Given the description of an element on the screen output the (x, y) to click on. 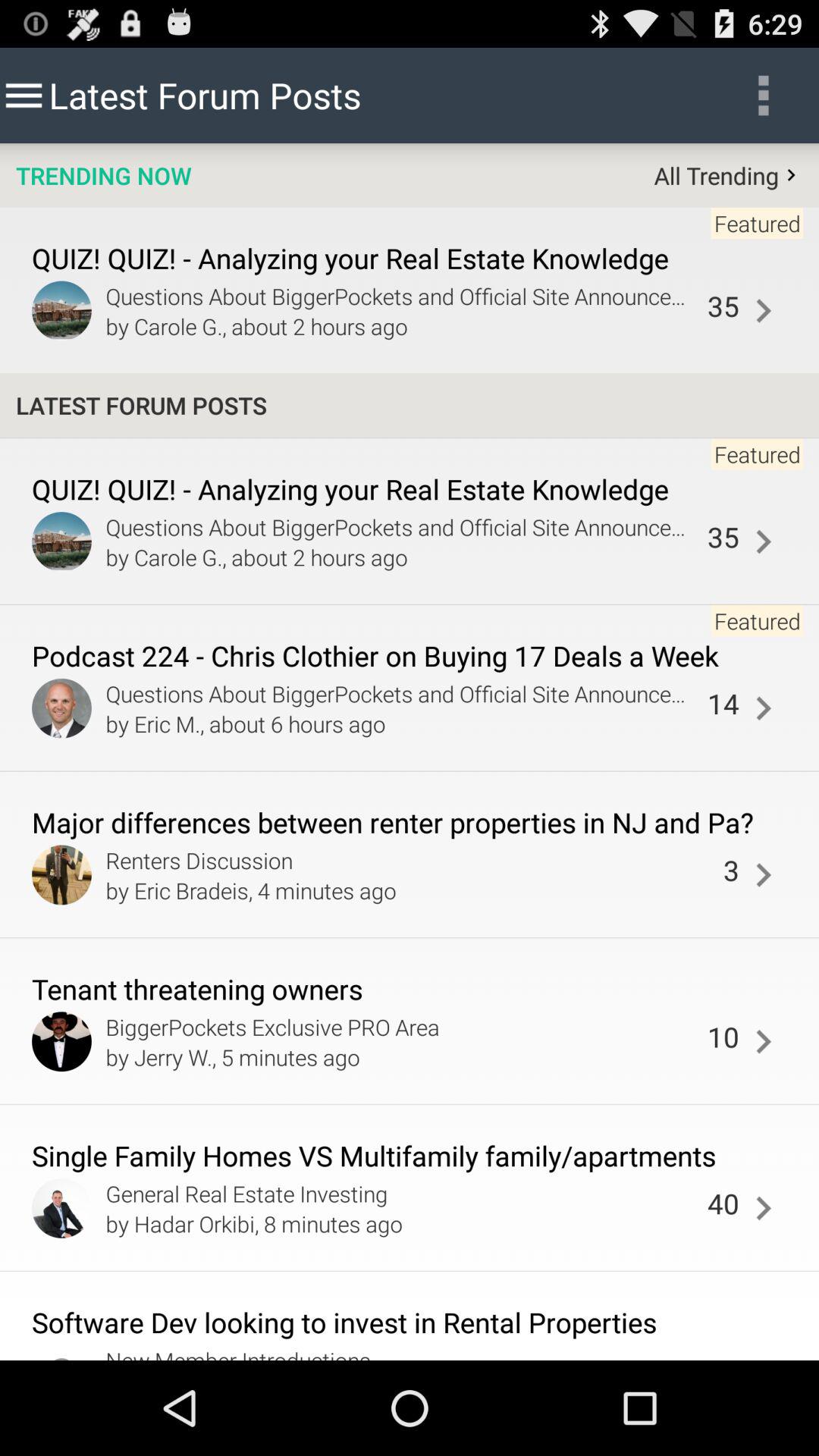
click the icon above single family homes app (402, 1056)
